Given the description of an element on the screen output the (x, y) to click on. 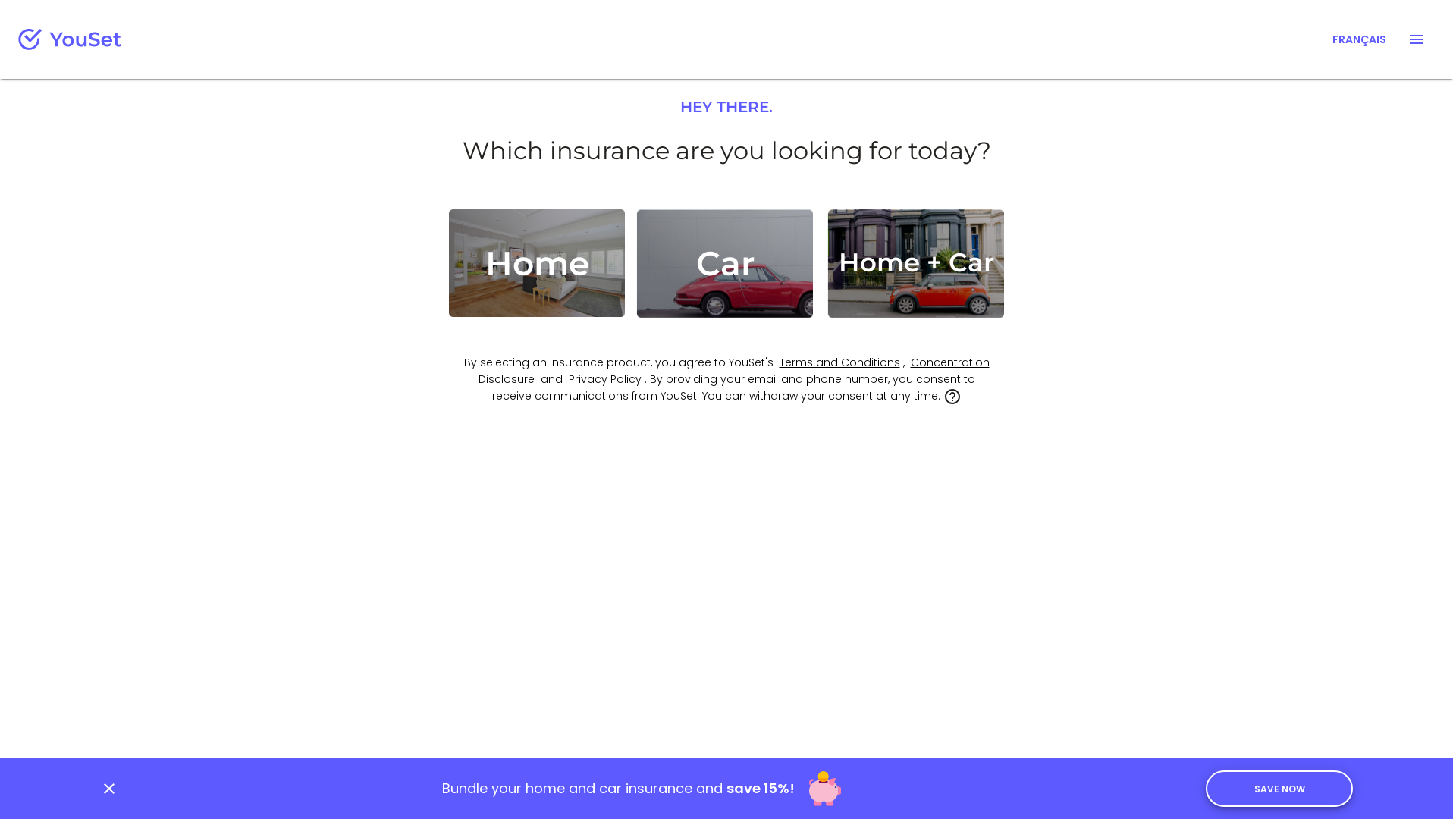
SAVE NOW Element type: text (1278, 788)
Home + Car Element type: text (916, 263)
Concentration Disclosure Element type: text (732, 370)
Privacy Policy Element type: text (604, 378)
Car Element type: text (724, 263)
Terms and Conditions Element type: text (839, 362)
Home Element type: text (536, 262)
